Given the description of an element on the screen output the (x, y) to click on. 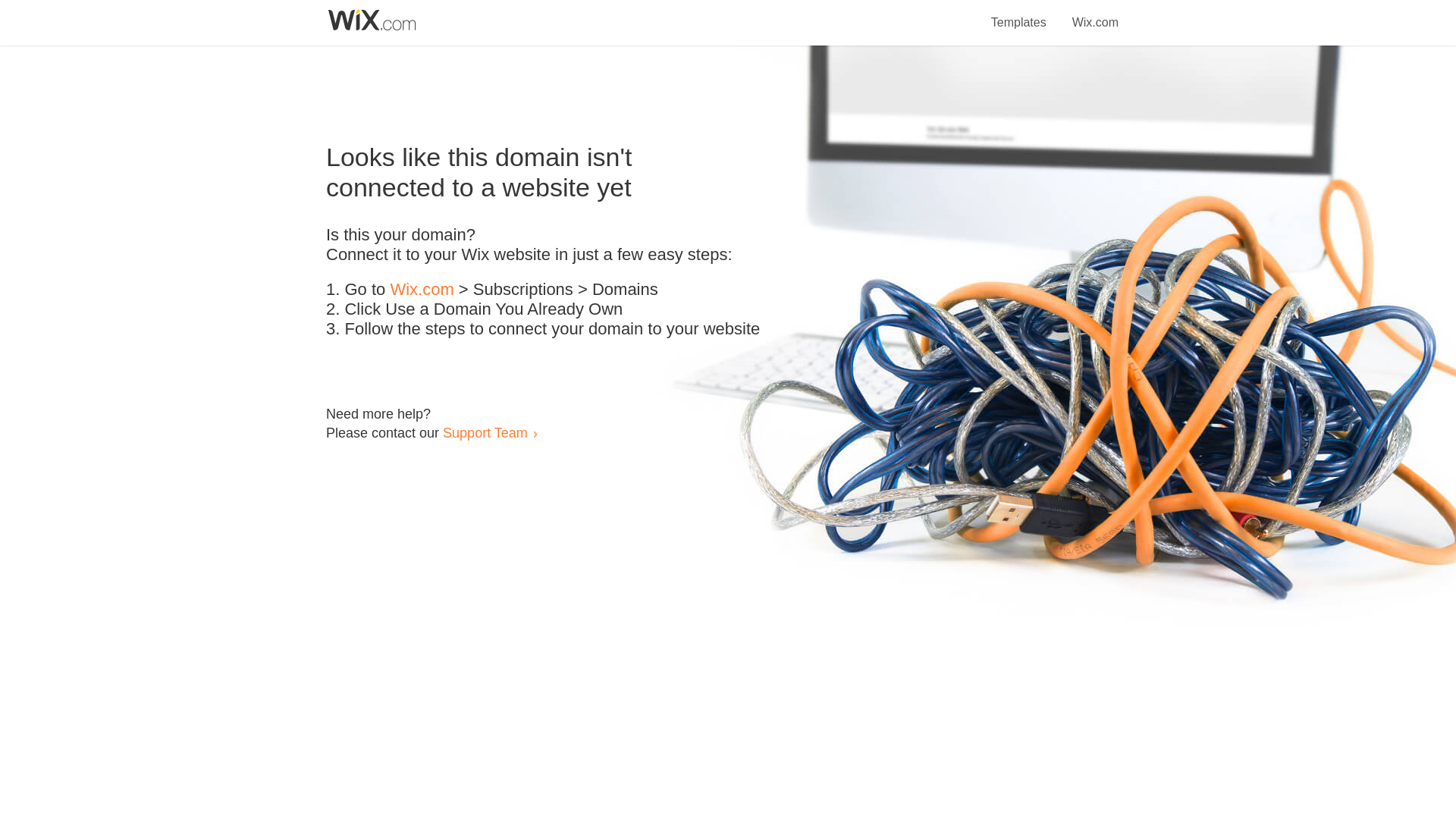
Wix.com (421, 289)
Templates (1018, 14)
Support Team (484, 432)
Wix.com (1095, 14)
